Given the description of an element on the screen output the (x, y) to click on. 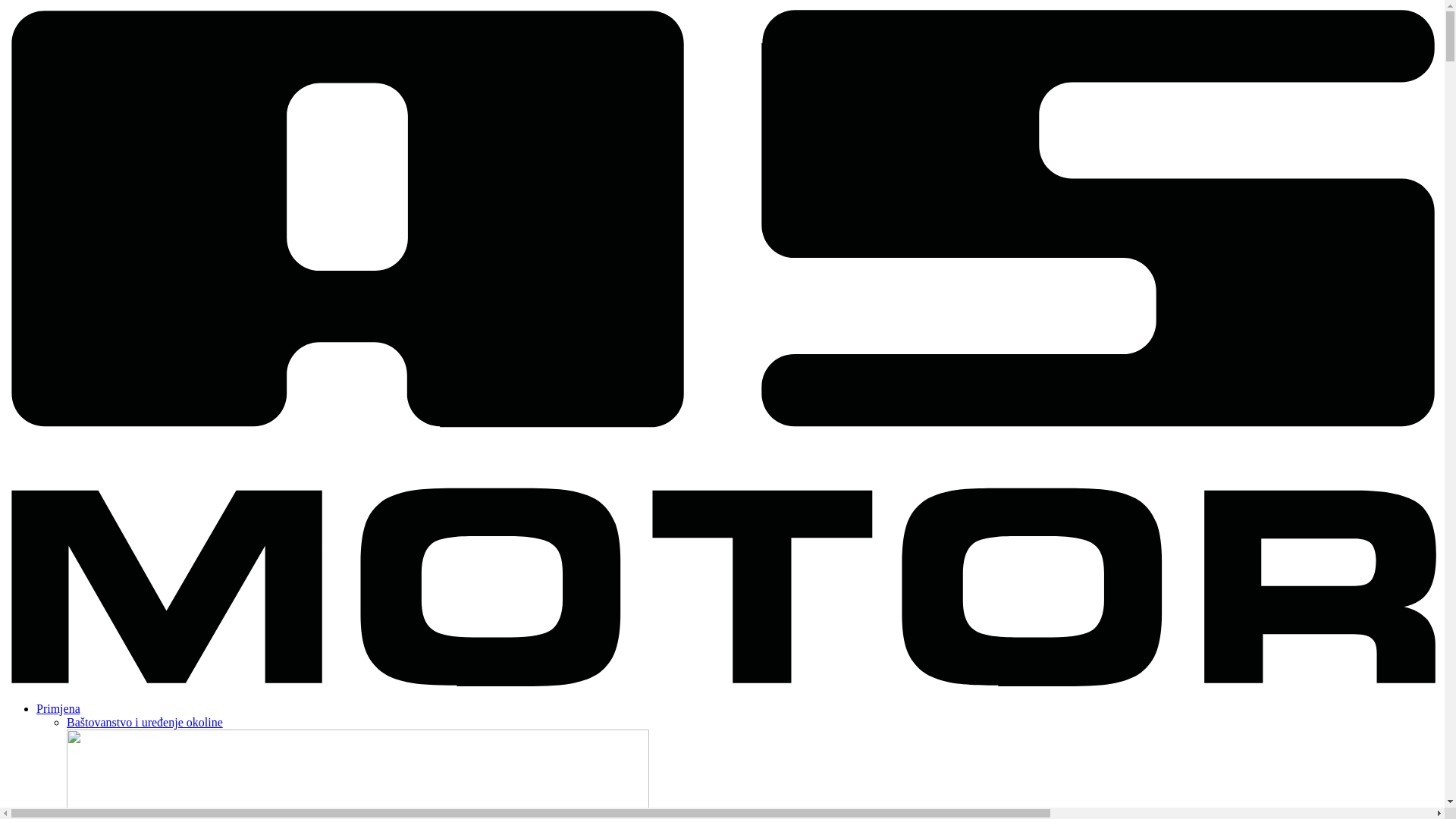
Primjena Element type: text (58, 708)
